Given the description of an element on the screen output the (x, y) to click on. 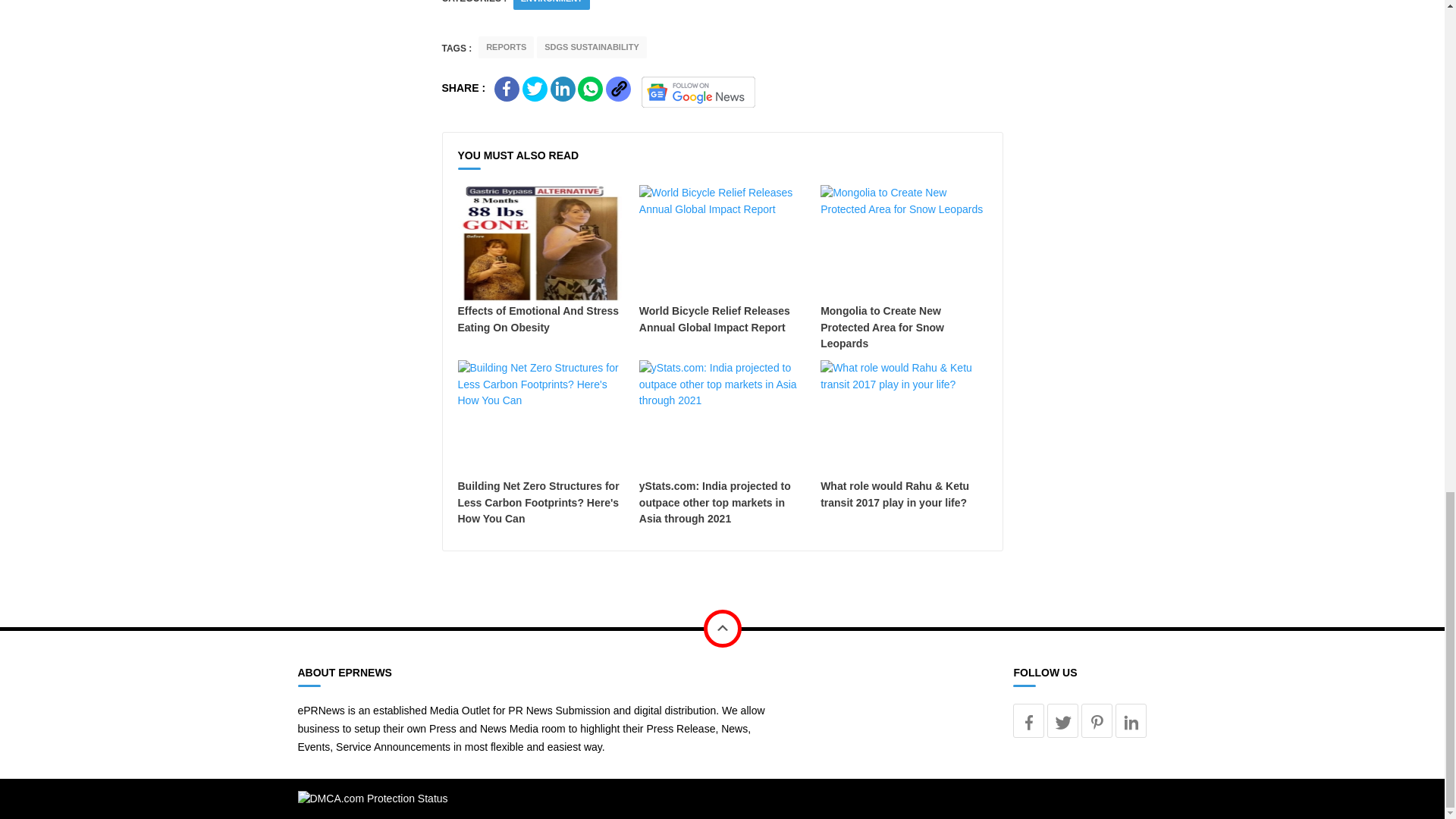
Pinterest (1096, 720)
Share on Twitter (534, 88)
Copy Link (617, 88)
Share on Linkedin (562, 88)
SDGS SUSTAINABILITY (591, 47)
Linkedin (1130, 720)
Effects of Emotional And Stress Eating On Obesity (541, 260)
DMCA.com Protection Status (371, 797)
Share on Facebook (507, 88)
REPORTS (506, 47)
